Given the description of an element on the screen output the (x, y) to click on. 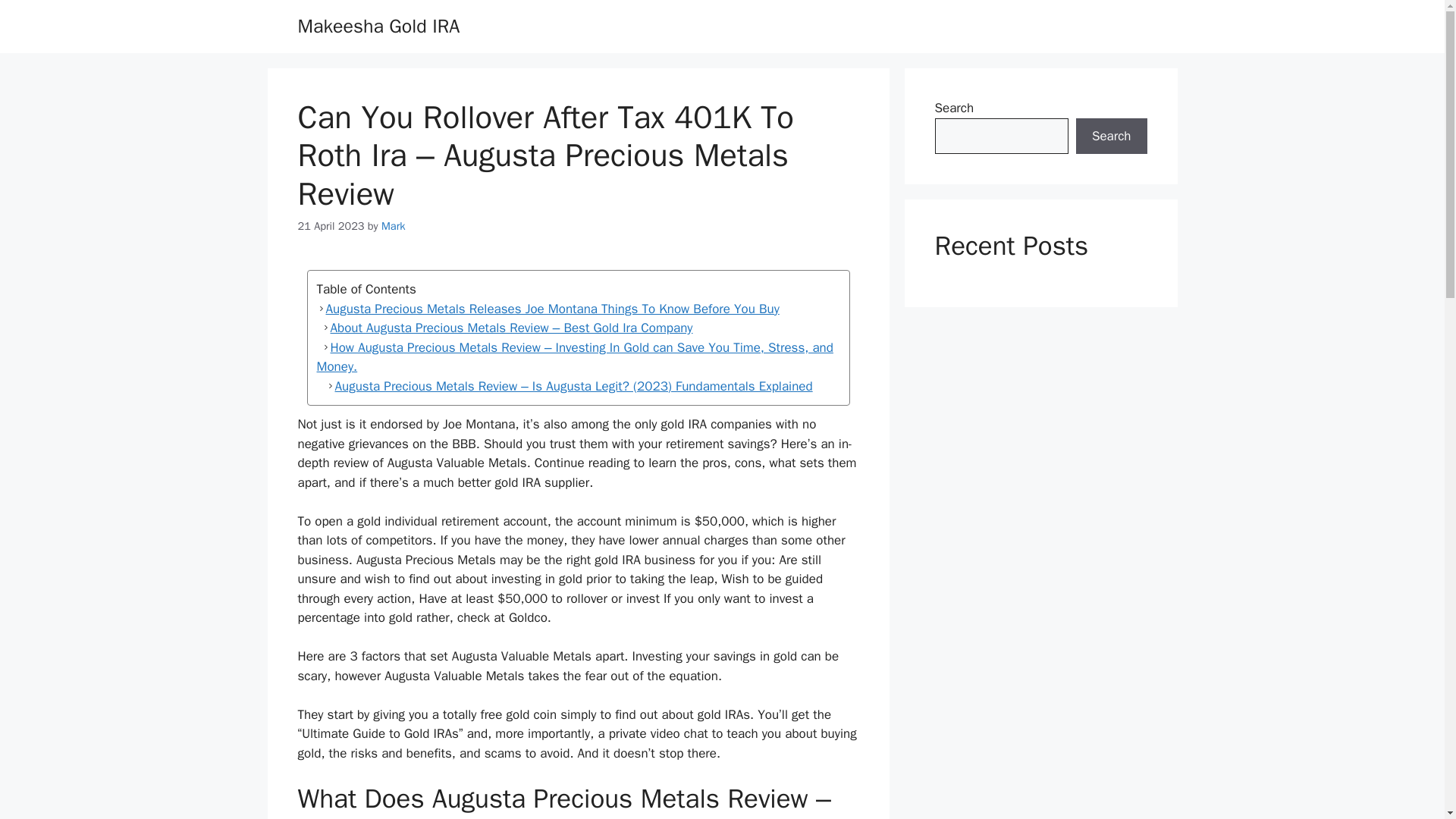
Search (1111, 135)
Mark (392, 225)
View all posts by Mark (392, 225)
Makeesha Gold IRA (378, 25)
